Given the description of an element on the screen output the (x, y) to click on. 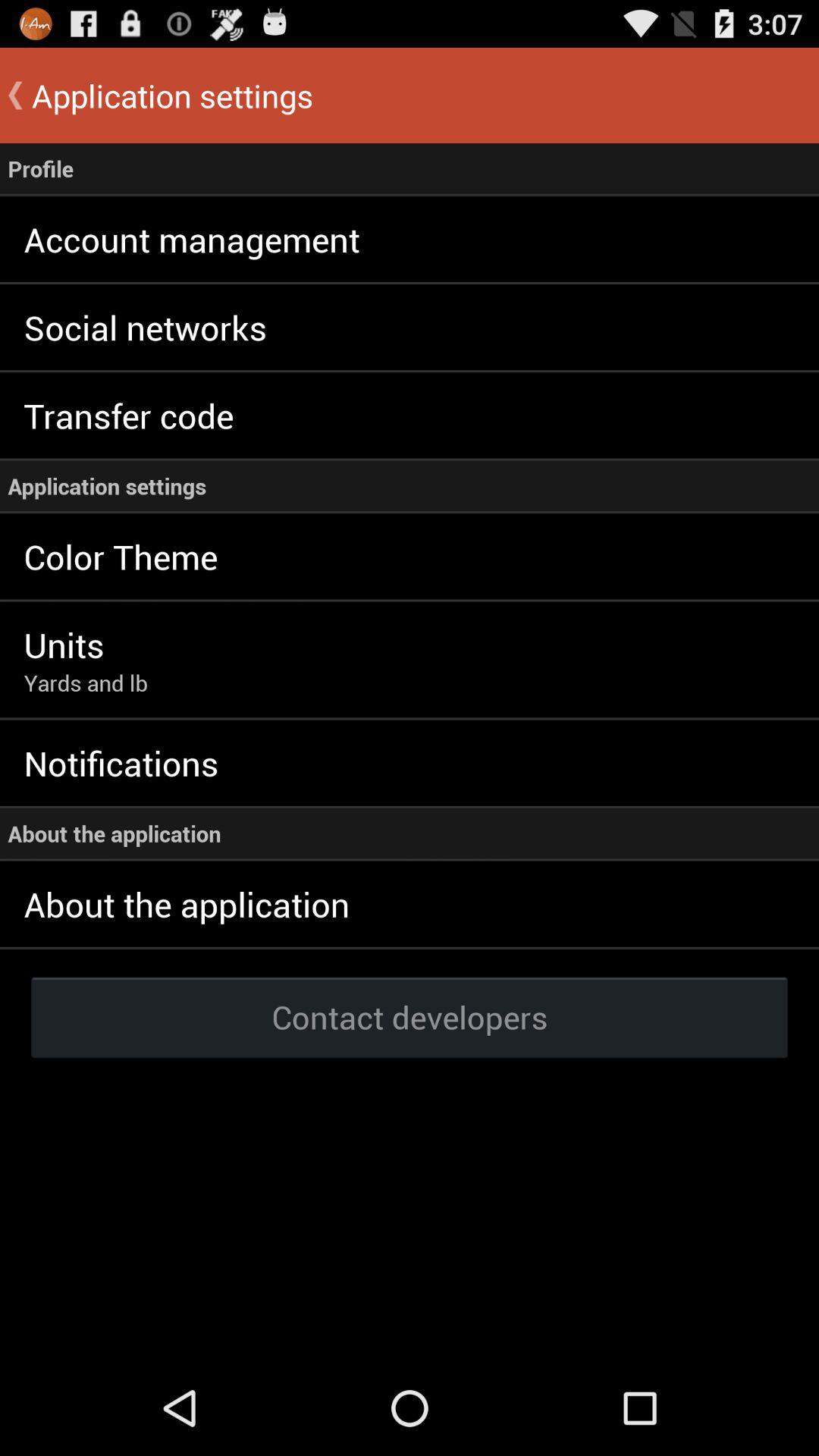
turn on the contact developers button (409, 1016)
